Given the description of an element on the screen output the (x, y) to click on. 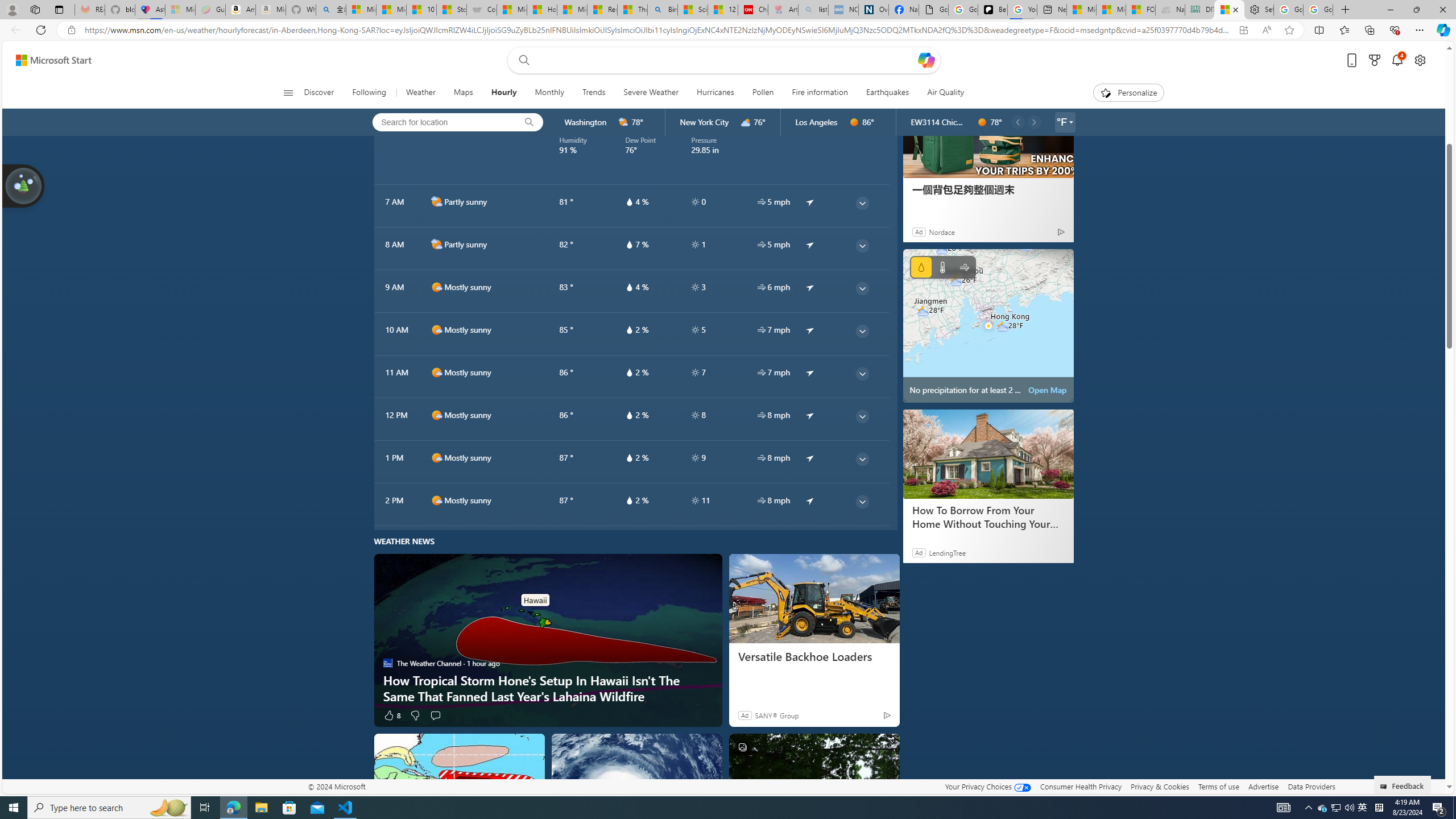
Search for location (440, 122)
hourlyTable/uv (694, 500)
DITOGAMES AG Imprint (1200, 9)
Weather (420, 92)
Bing (662, 9)
Severe Weather (651, 92)
Notifications (1397, 60)
Air Quality (940, 92)
